Given the description of an element on the screen output the (x, y) to click on. 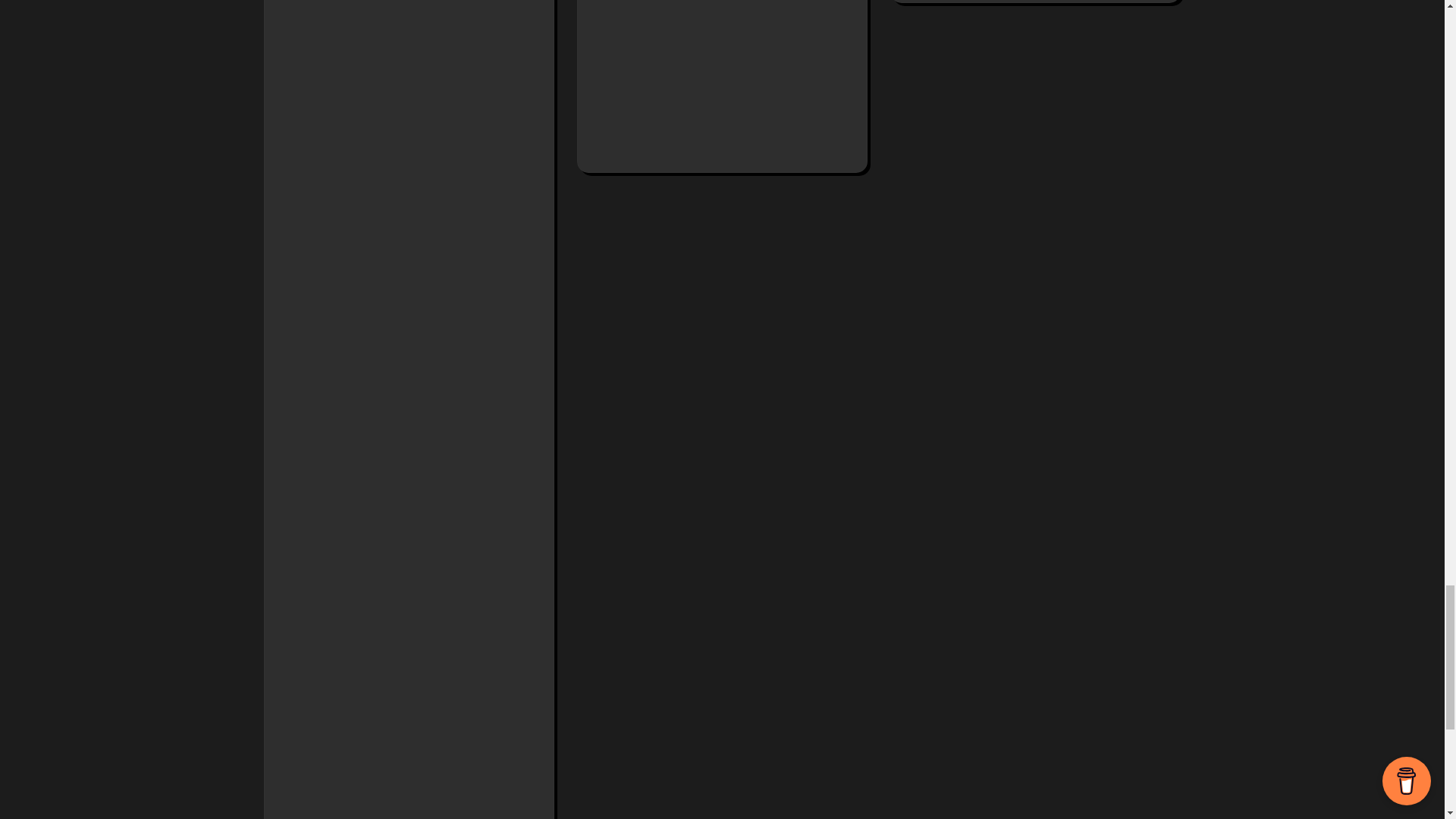
BrandBacker Member (408, 261)
